Given the description of an element on the screen output the (x, y) to click on. 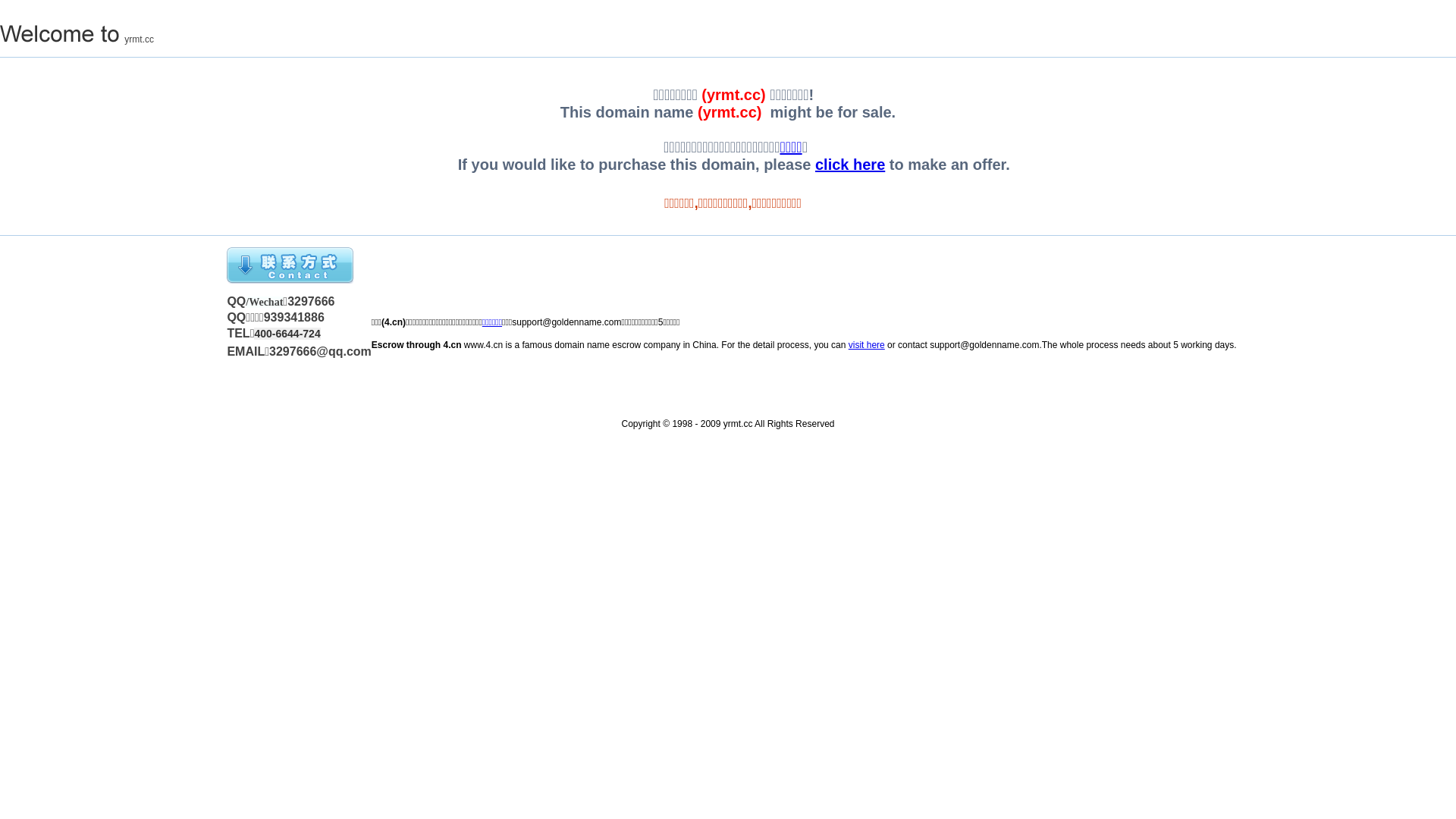
click here Element type: text (849, 164)
visit here Element type: text (866, 344)
